Given the description of an element on the screen output the (x, y) to click on. 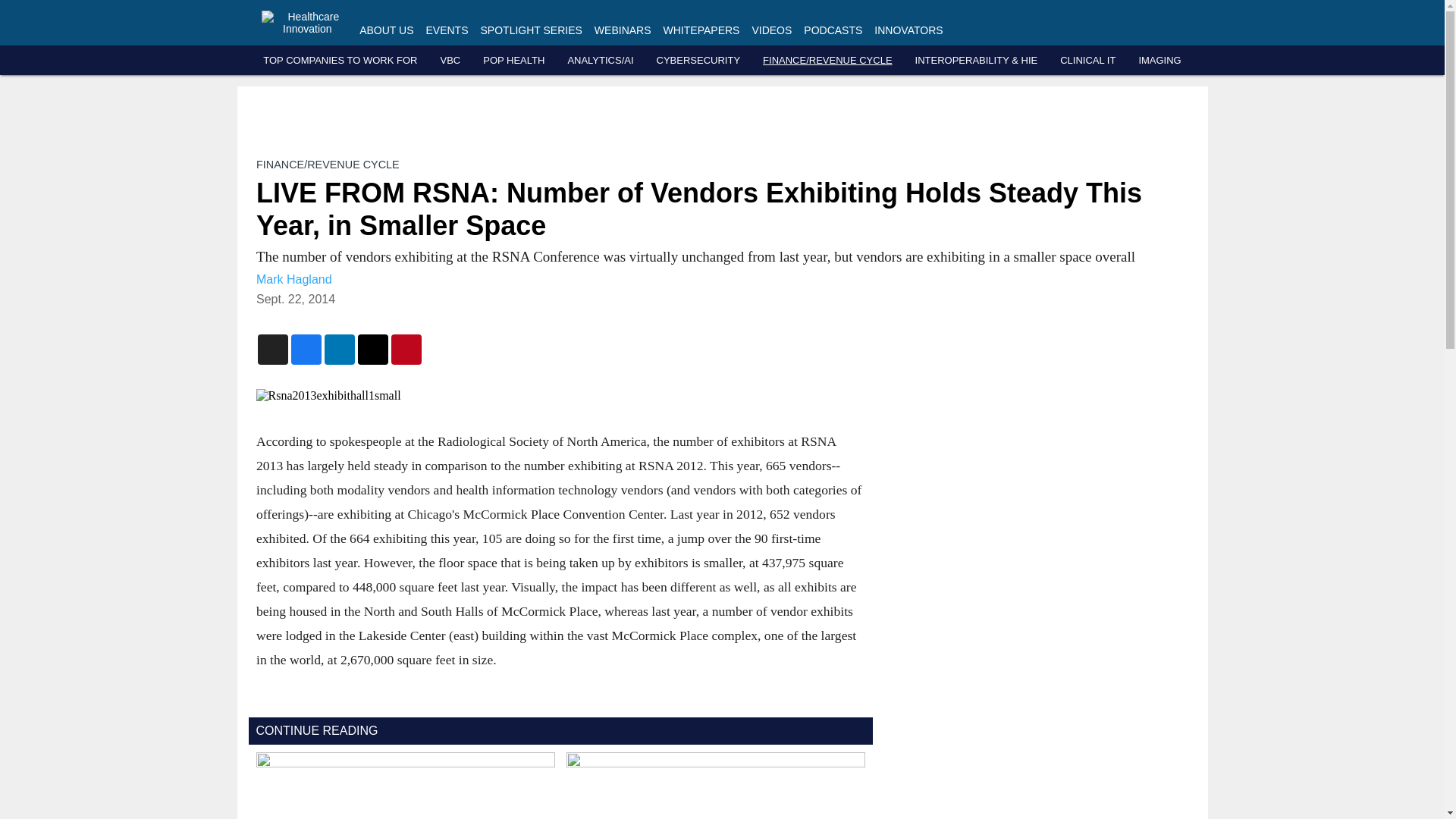
ABOUT US (386, 30)
POP HEALTH (513, 60)
PODCASTS (832, 30)
Mark Hagland (293, 278)
SPOTLIGHT SERIES (531, 30)
WHITEPAPERS (701, 30)
CYBERSECURITY (698, 60)
Rsna2013exhibithall1small (560, 395)
CLINICAL IT (1087, 60)
INNOVATORS (908, 30)
WEBINARS (622, 30)
EVENTS (447, 30)
VIDEOS (771, 30)
VBC (449, 60)
TOP COMPANIES TO WORK FOR (339, 60)
